Given the description of an element on the screen output the (x, y) to click on. 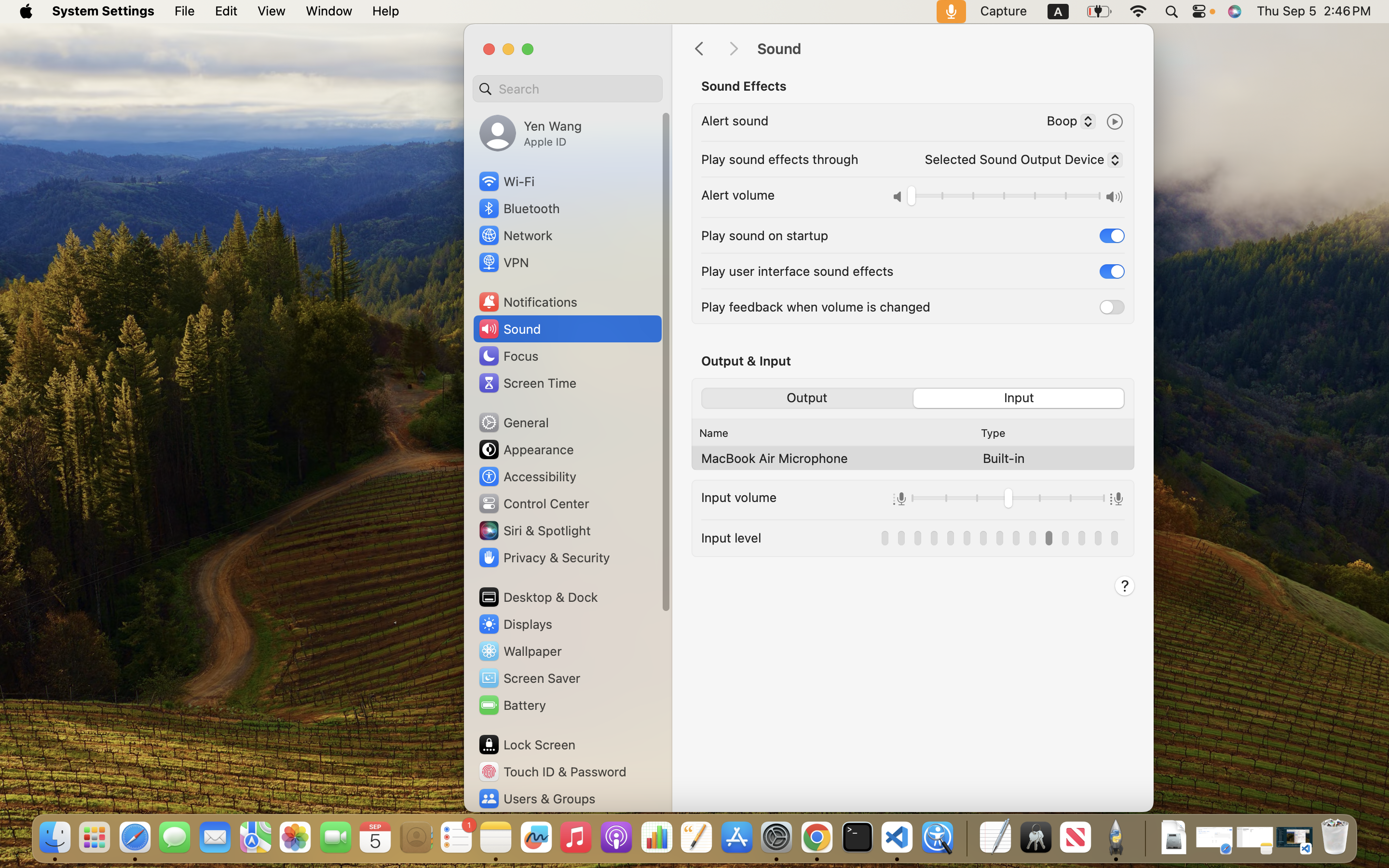
MacBook Air Microphone Element type: AXStaticText (774, 457)
General Element type: AXStaticText (512, 422)
Alert sound Element type: AXStaticText (734, 120)
0.4285714328289032 Element type: AXDockItem (965, 837)
Appearance Element type: AXStaticText (525, 449)
